Given the description of an element on the screen output the (x, y) to click on. 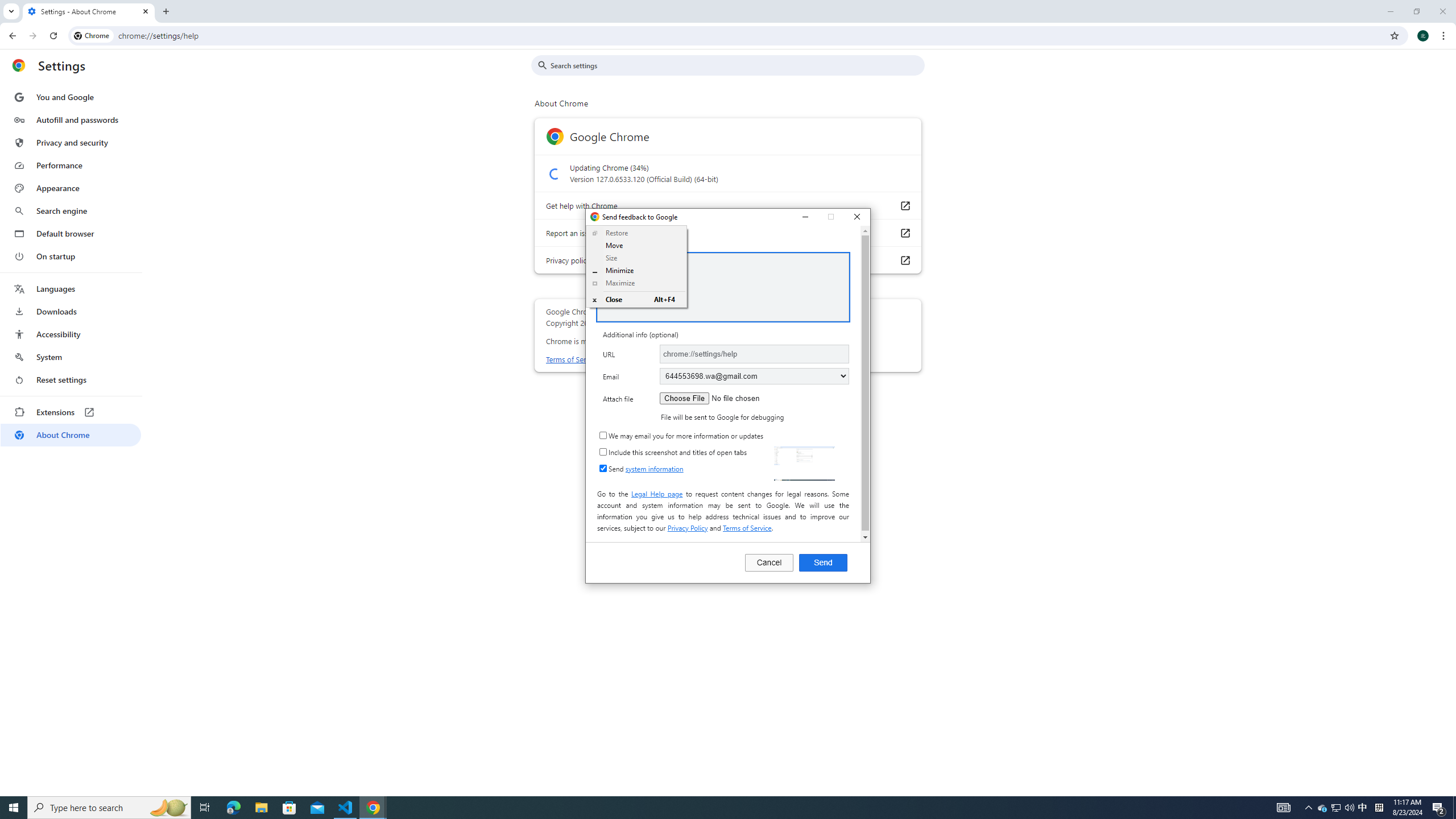
File Explorer (261, 807)
system information (654, 468)
Start (1362, 807)
Email (13, 807)
Report an issue (753, 375)
Notification Chevron (904, 232)
You and Google (1308, 807)
Maximize (70, 96)
Reset settings (831, 217)
